Given the description of an element on the screen output the (x, y) to click on. 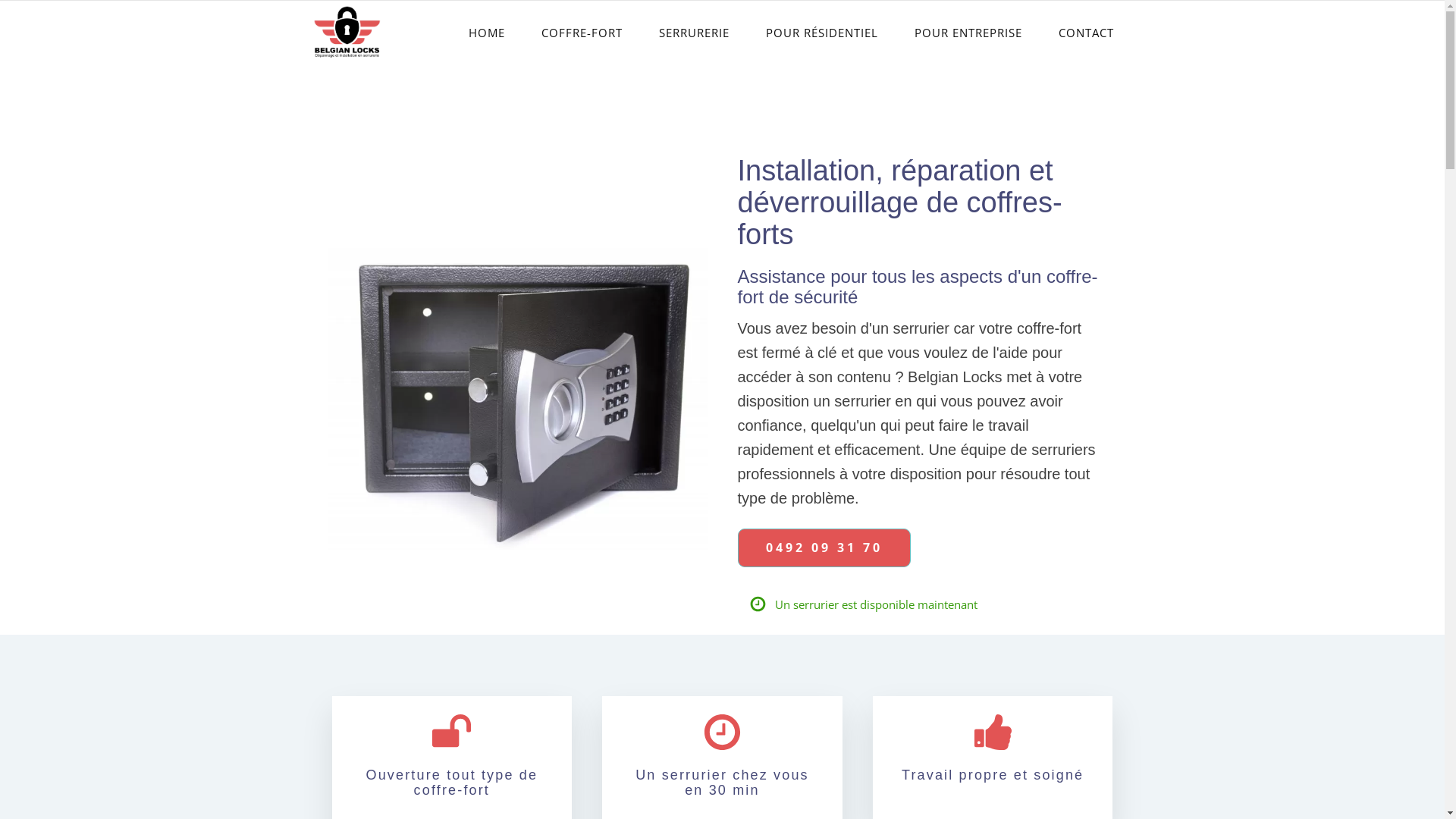
COFFRE-FORT Element type: text (581, 32)
HOME Element type: text (486, 32)
SERRURERIE Element type: text (693, 32)
0492 09 31 70 Element type: text (823, 547)
CONTACT Element type: text (1086, 32)
POUR ENTREPRISE Element type: text (968, 32)
